Given the description of an element on the screen output the (x, y) to click on. 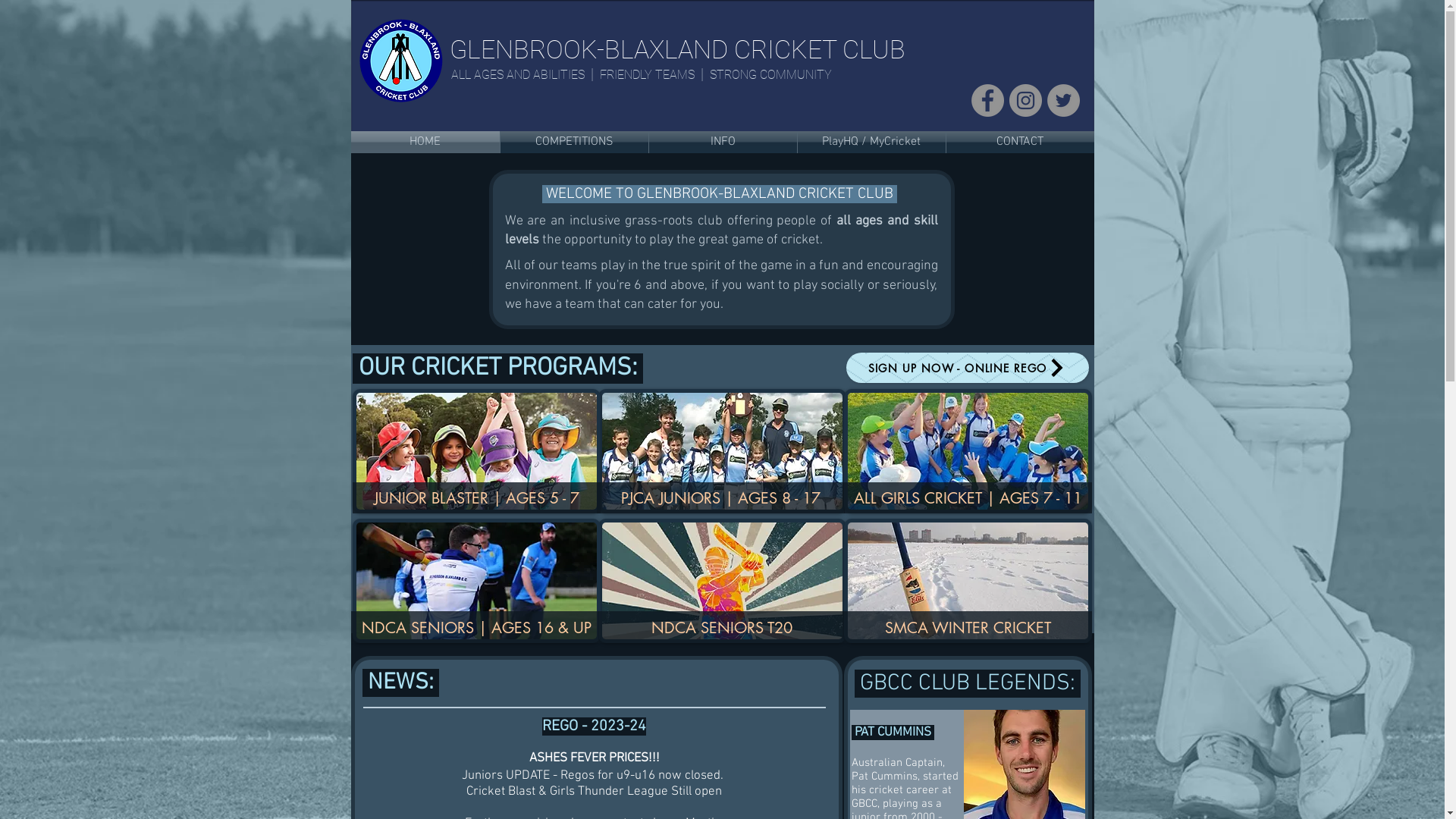
GLENBROOK-BLAXLAND CRICKET CLUB Element type: text (676, 49)
SMCA WINTER CRICKET Element type: text (967, 629)
SIGN UP NOW - ONLINE REGO Element type: text (967, 367)
HOME Element type: text (424, 142)
CONTACT Element type: text (1020, 142)
